Given the description of an element on the screen output the (x, y) to click on. 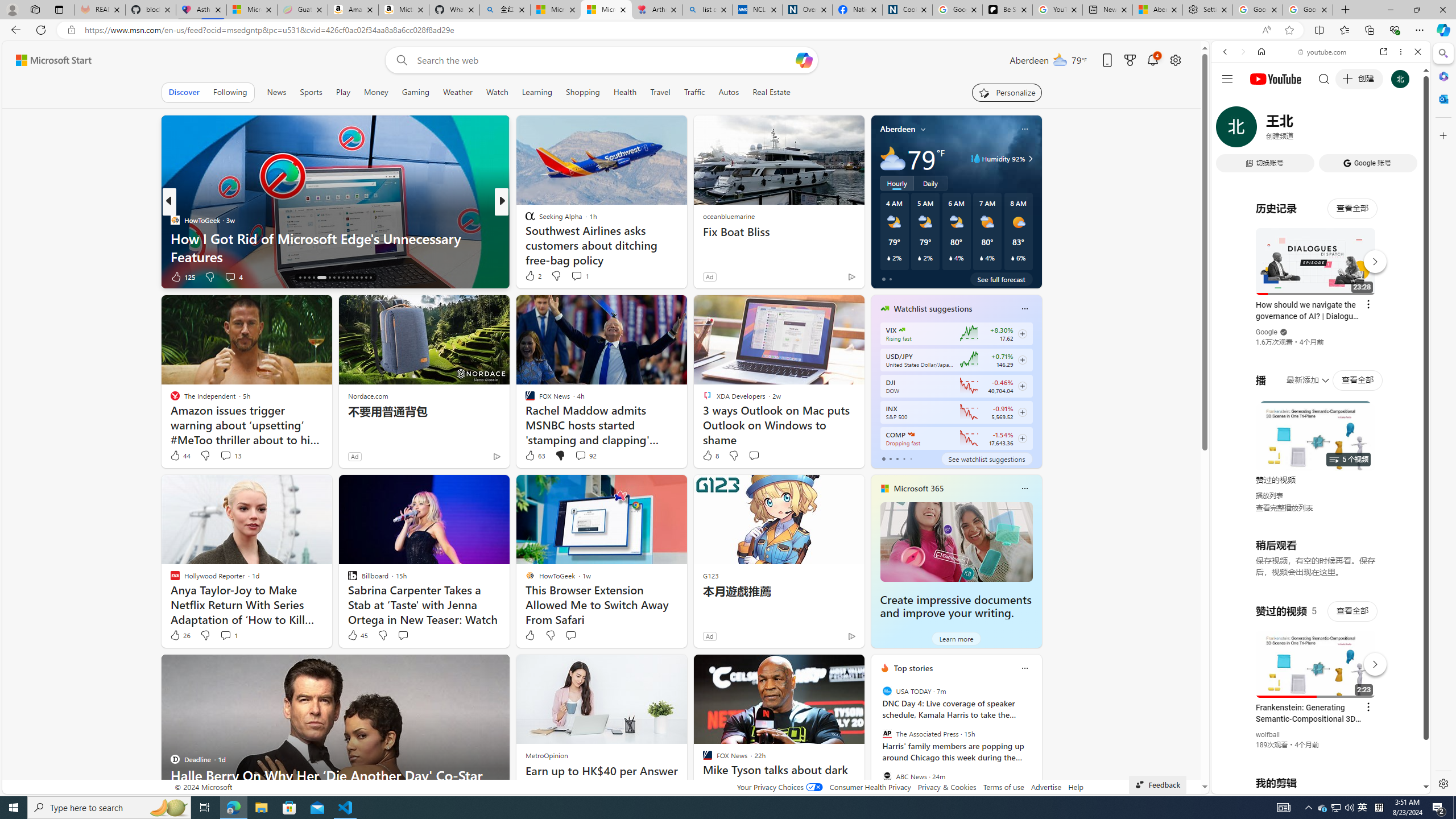
you (1315, 755)
Mostly cloudy (892, 158)
